Given the description of an element on the screen output the (x, y) to click on. 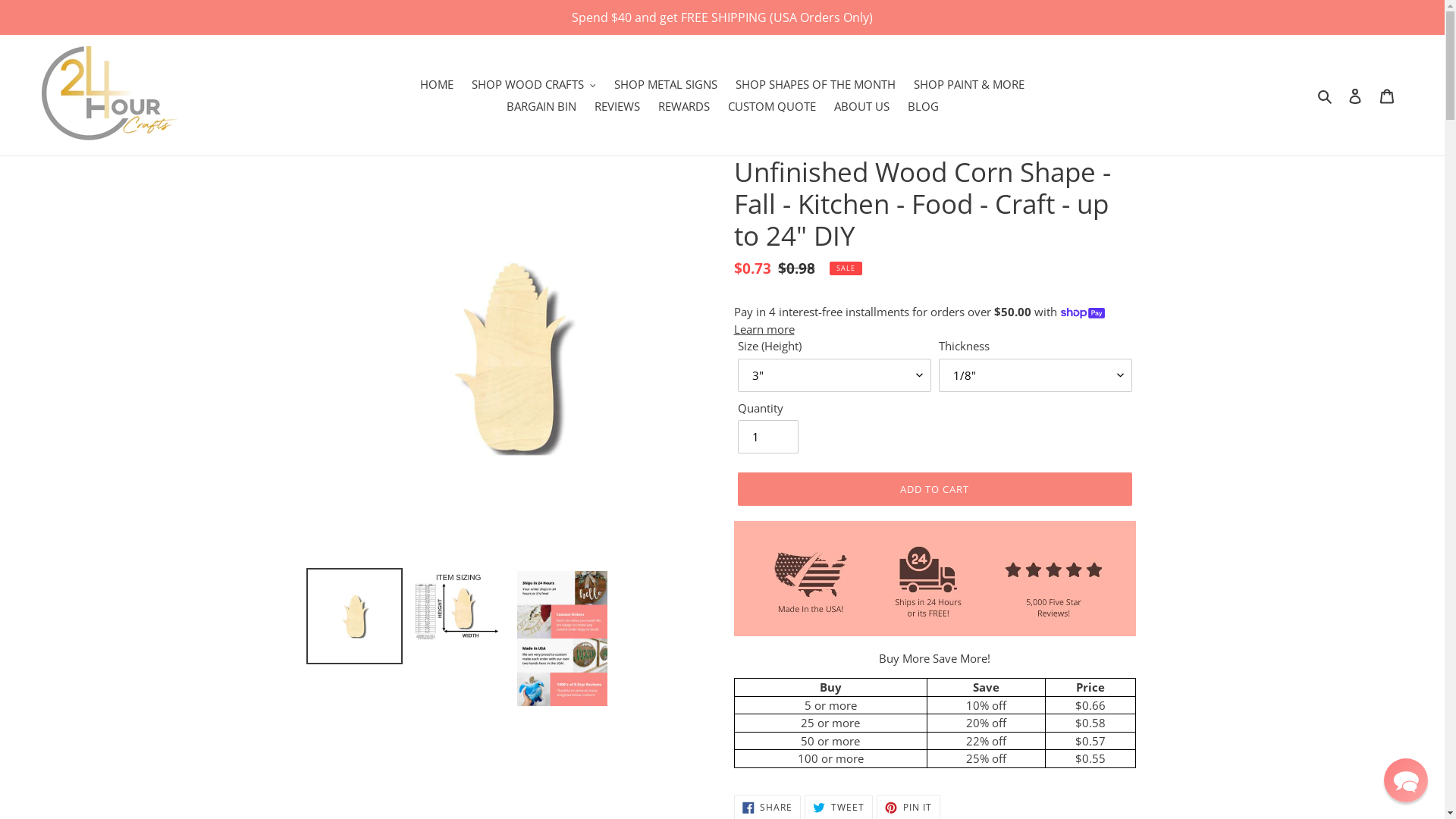
SHOP WOOD CRAFTS Element type: text (533, 84)
Log in Element type: text (1355, 94)
ABOUT US Element type: text (861, 106)
BARGAIN BIN Element type: text (540, 106)
REWARDS Element type: text (683, 106)
Search Element type: text (1325, 94)
SHOP METAL SIGNS Element type: text (665, 84)
REVIEWS Element type: text (616, 106)
HOME Element type: text (436, 84)
Cart Element type: text (1386, 94)
CUSTOM QUOTE Element type: text (771, 106)
ADD TO CART Element type: text (934, 488)
BLOG Element type: text (922, 106)
SHOP SHAPES OF THE MONTH Element type: text (815, 84)
SHOP PAINT & MORE Element type: text (969, 84)
